Given the description of an element on the screen output the (x, y) to click on. 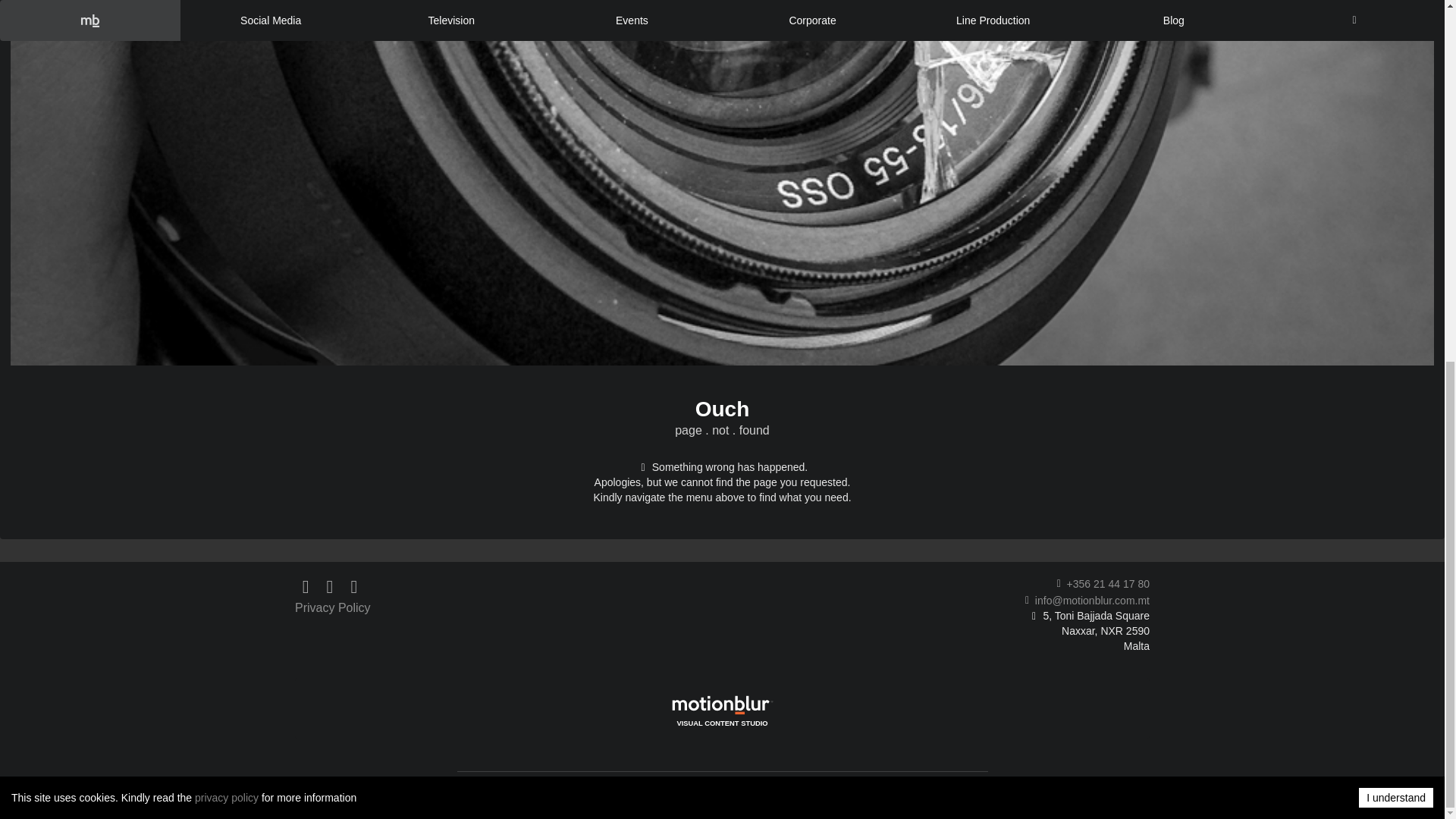
Privacy Policy (560, 606)
I understand (1395, 153)
privacy policy (227, 153)
